Given the description of an element on the screen output the (x, y) to click on. 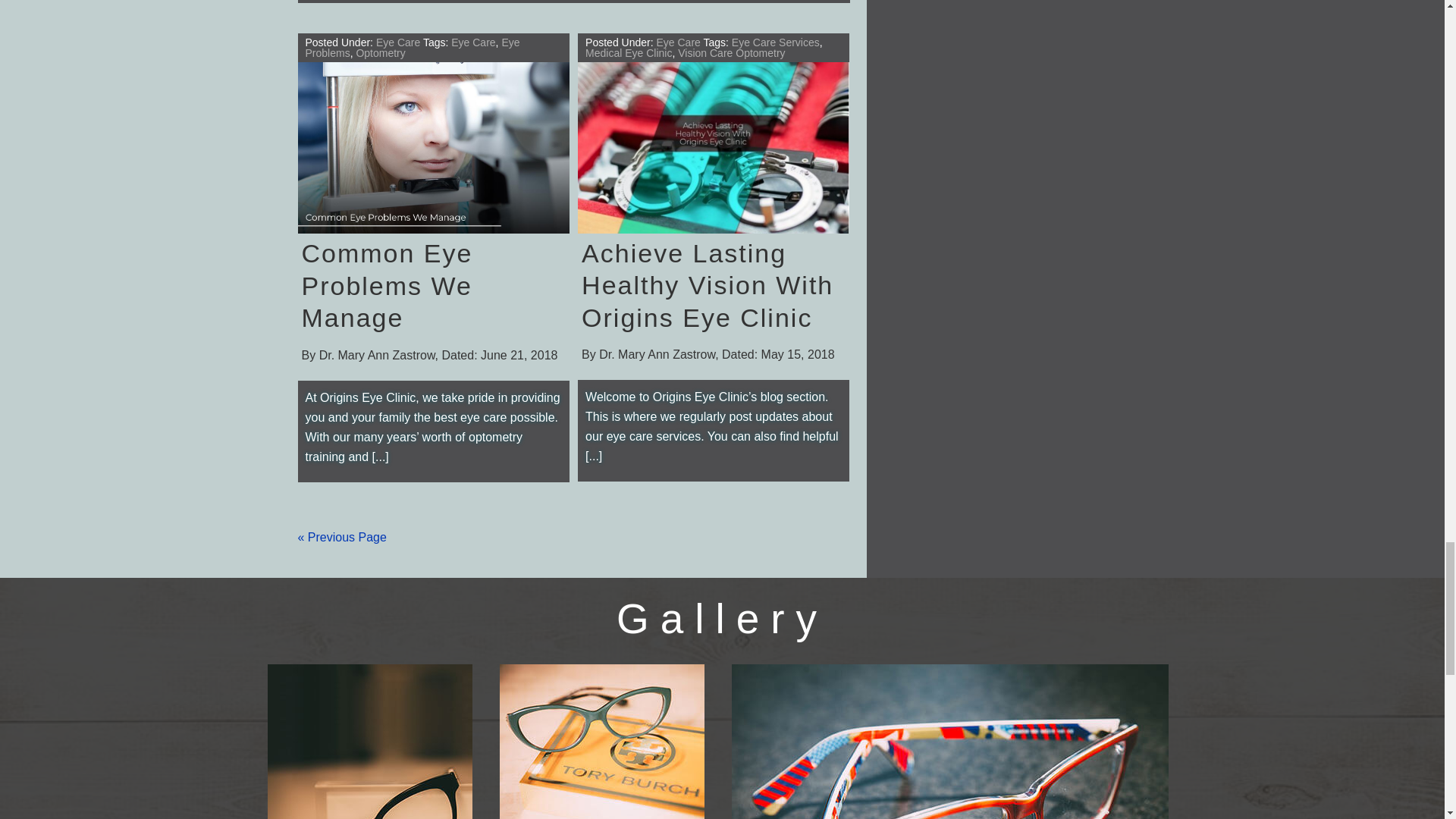
Designer Glasses Bloomington MN (948, 741)
Bifocal Glasses Minneapolis MN (368, 741)
Glasses (601, 741)
